Given the description of an element on the screen output the (x, y) to click on. 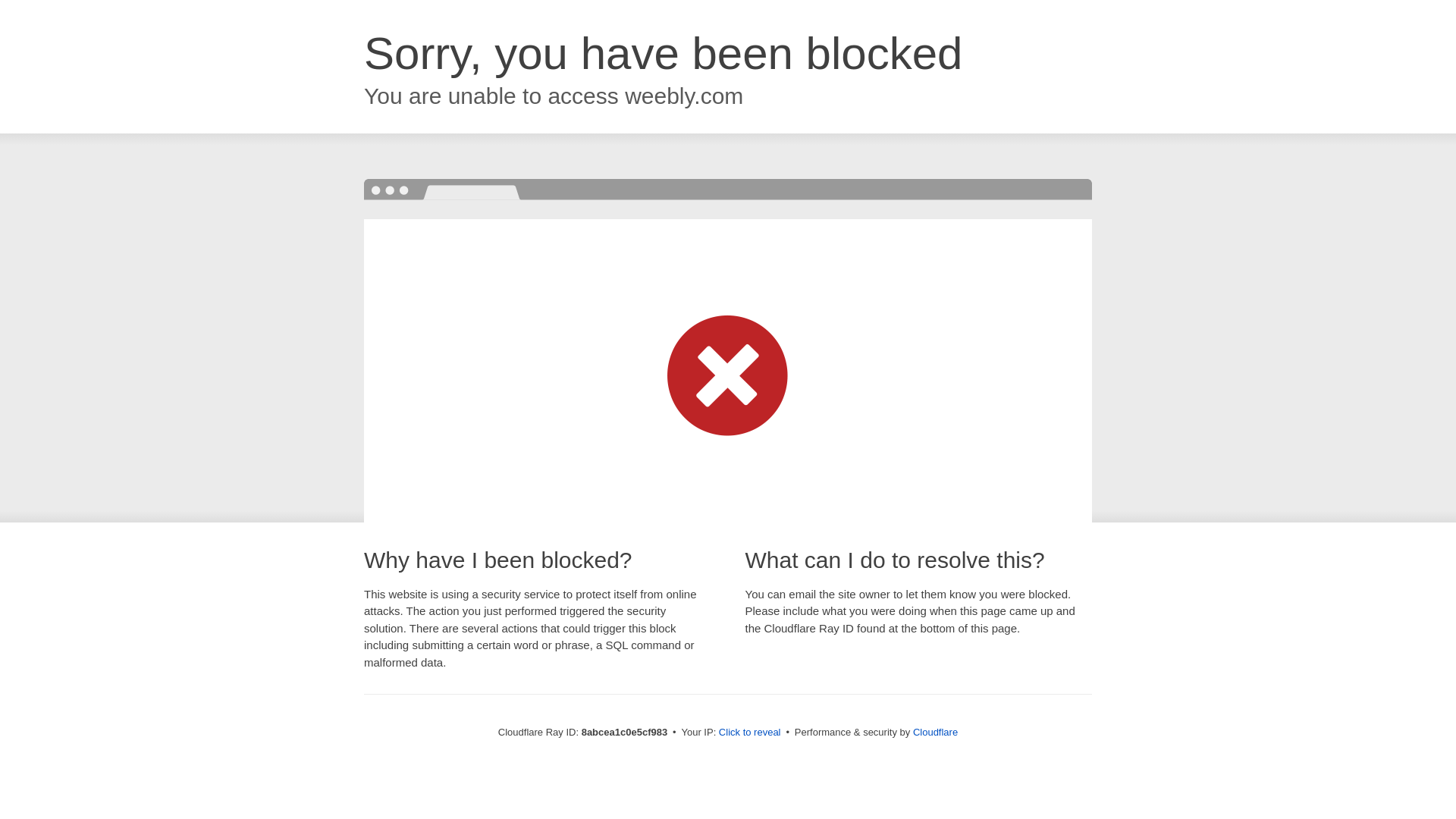
Cloudflare (935, 731)
Click to reveal (749, 732)
